Given the description of an element on the screen output the (x, y) to click on. 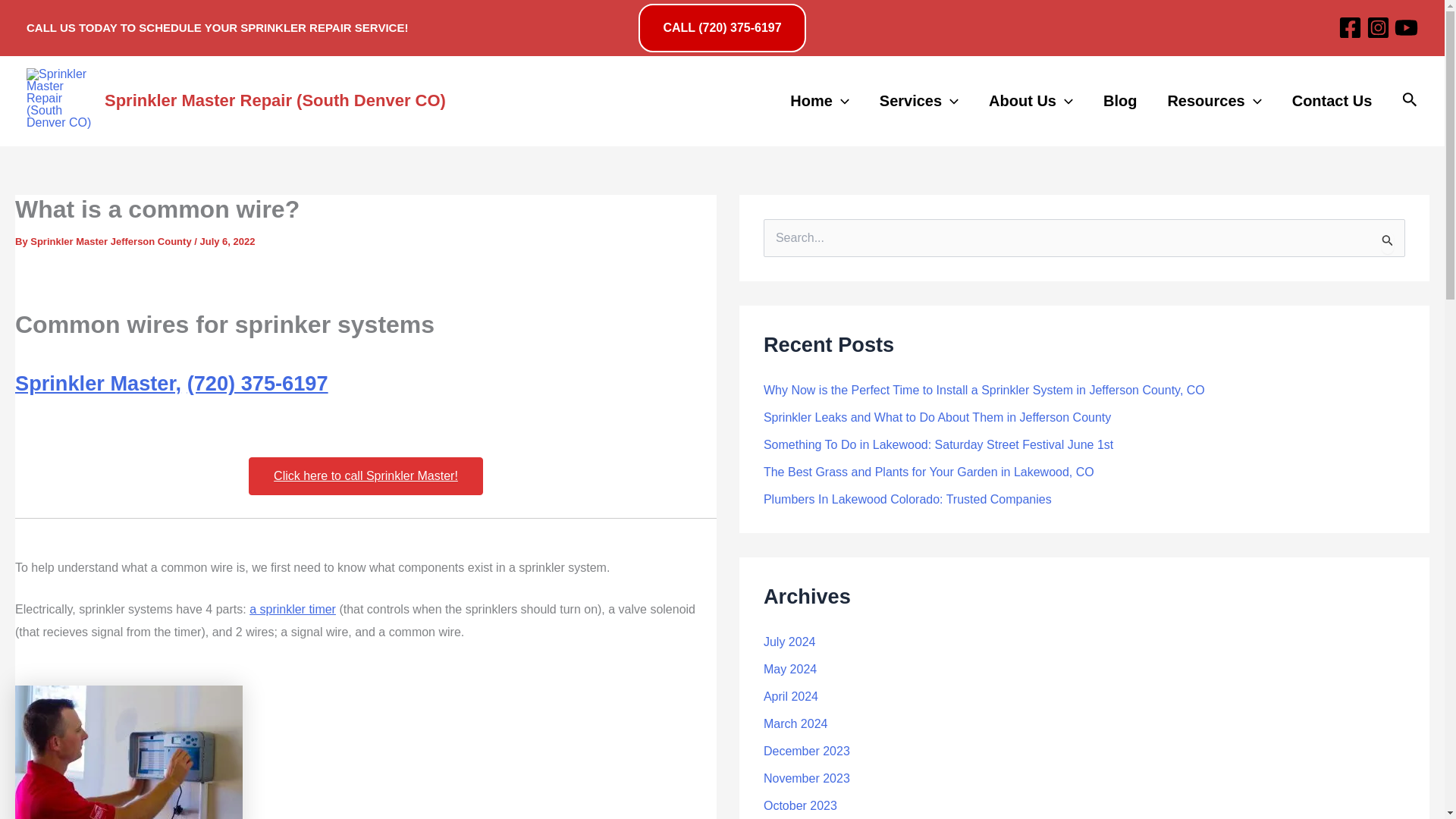
View all posts by Sprinkler Master Jefferson County (111, 241)
About Us (1030, 101)
Services (919, 101)
Search (1388, 240)
Search (1388, 240)
Home (819, 101)
